Given the description of an element on the screen output the (x, y) to click on. 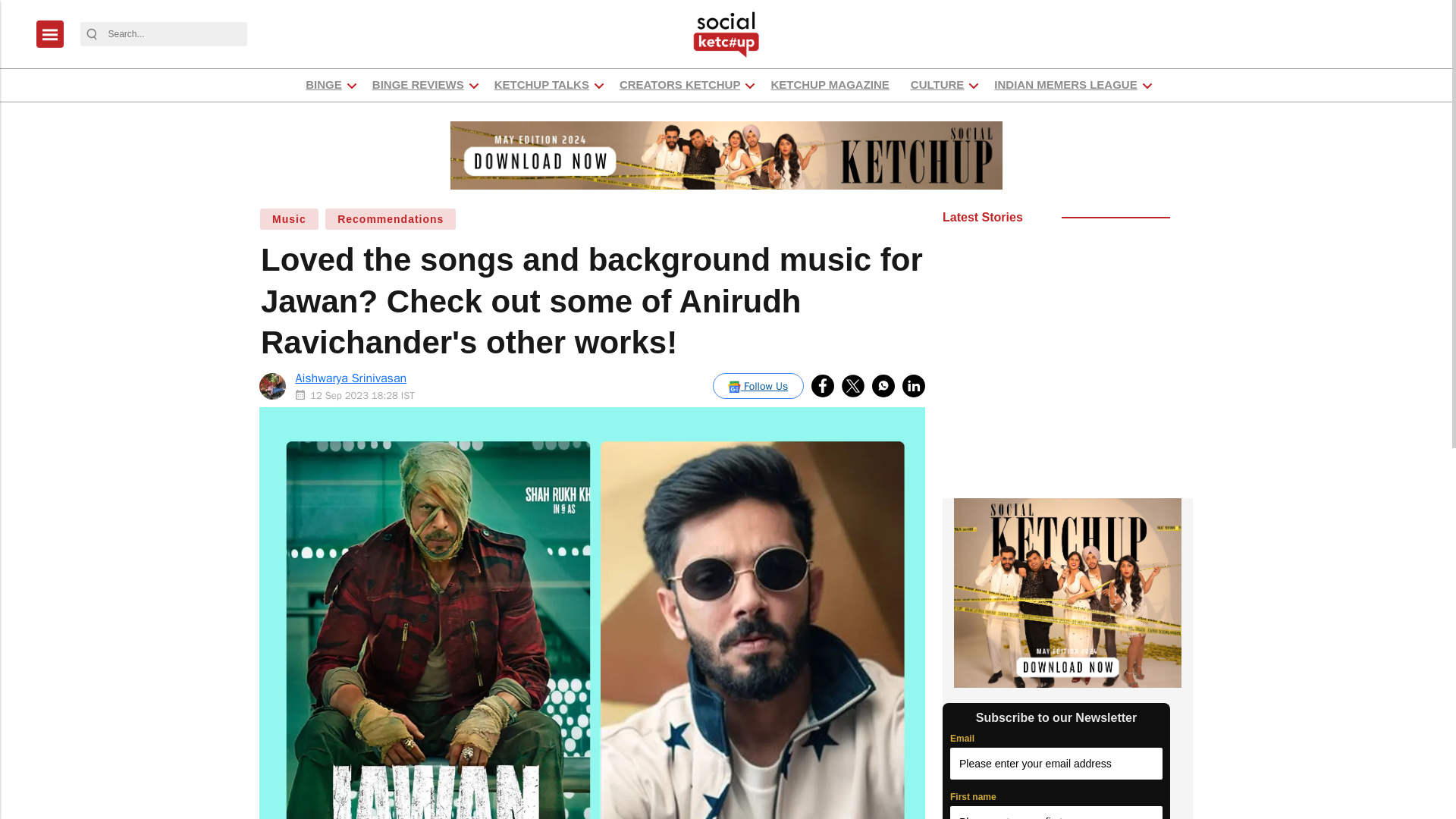
CREATORS KETCHUP (679, 84)
KETCHUP MAGAZINE (829, 84)
BINGE (323, 84)
CULTURE (937, 84)
BINGE REVIEWS (417, 84)
INDIAN MEMERS LEAGUE (1064, 84)
KETCHUP TALKS (541, 84)
